Given the description of an element on the screen output the (x, y) to click on. 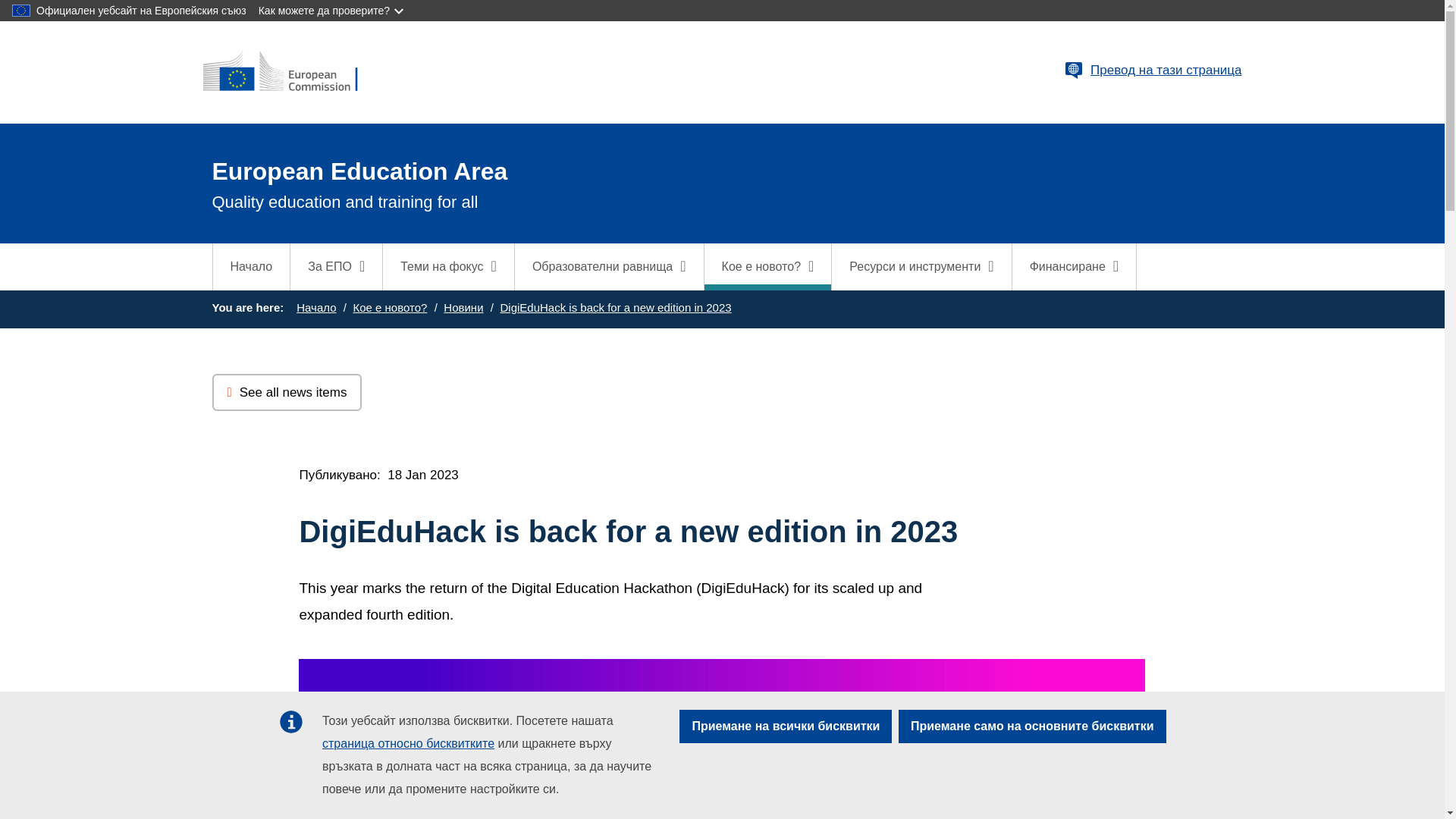
Skip to main content (6, 6)
DigiEduHack is back for a new edition in 2023 (614, 307)
See all news items (287, 392)
